Given the description of an element on the screen output the (x, y) to click on. 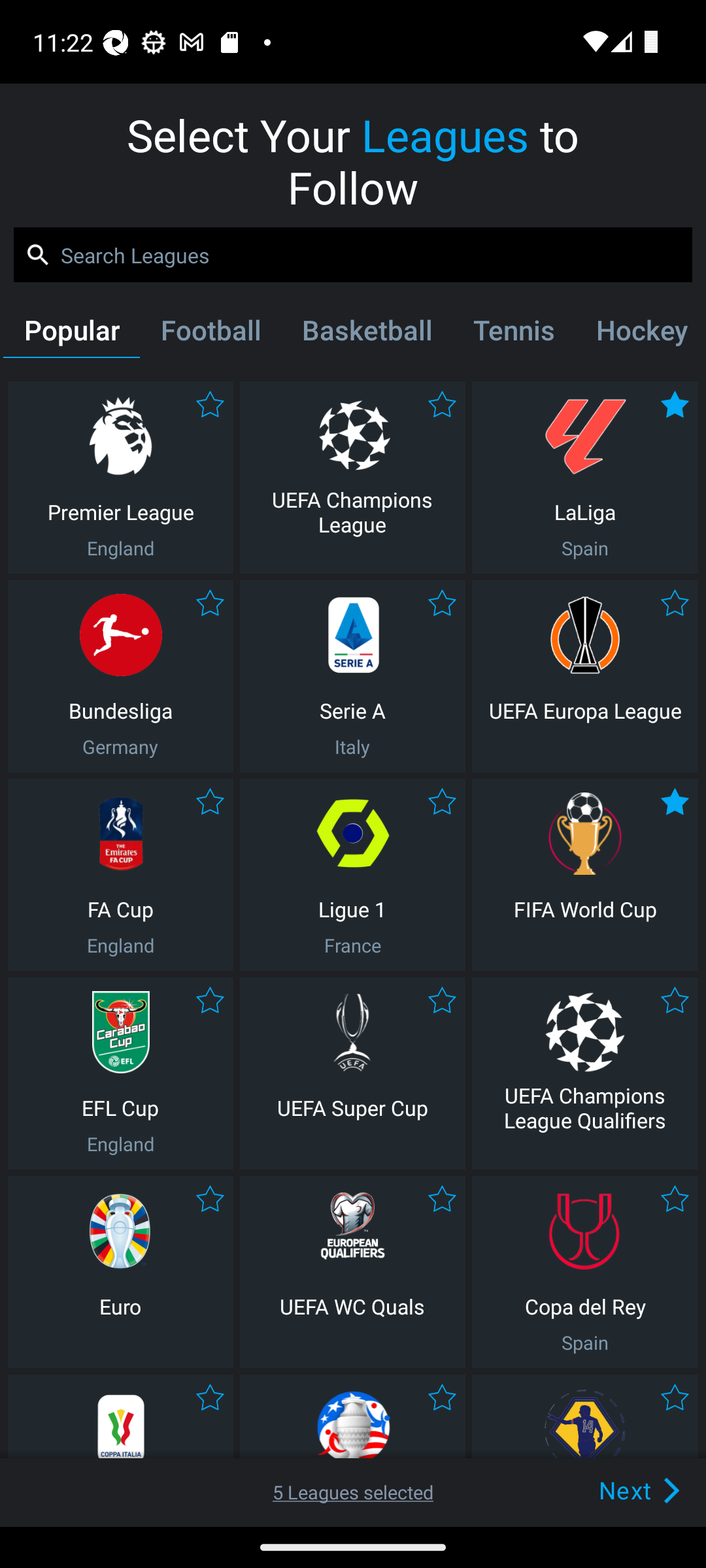
Search Leagues (352, 254)
Popular (71, 333)
Football (209, 333)
Basketball (366, 333)
Tennis (513, 333)
Hockey (638, 333)
Premier League England (120, 477)
UEFA Champions League (352, 477)
LaLiga Spain (585, 477)
Bundesliga Germany (120, 675)
Serie A Italy (352, 675)
UEFA Europa League (585, 675)
FA Cup England (120, 874)
Ligue 1 France (352, 874)
FIFA World Cup (585, 874)
EFL Cup England (120, 1072)
UEFA Super Cup (352, 1072)
UEFA Champions League Qualifiers (585, 1072)
Euro (120, 1271)
UEFA WC Quals (352, 1271)
Copa del Rey Spain (585, 1271)
Next (609, 1489)
5 Leagues selected (352, 1491)
